Given the description of an element on the screen output the (x, y) to click on. 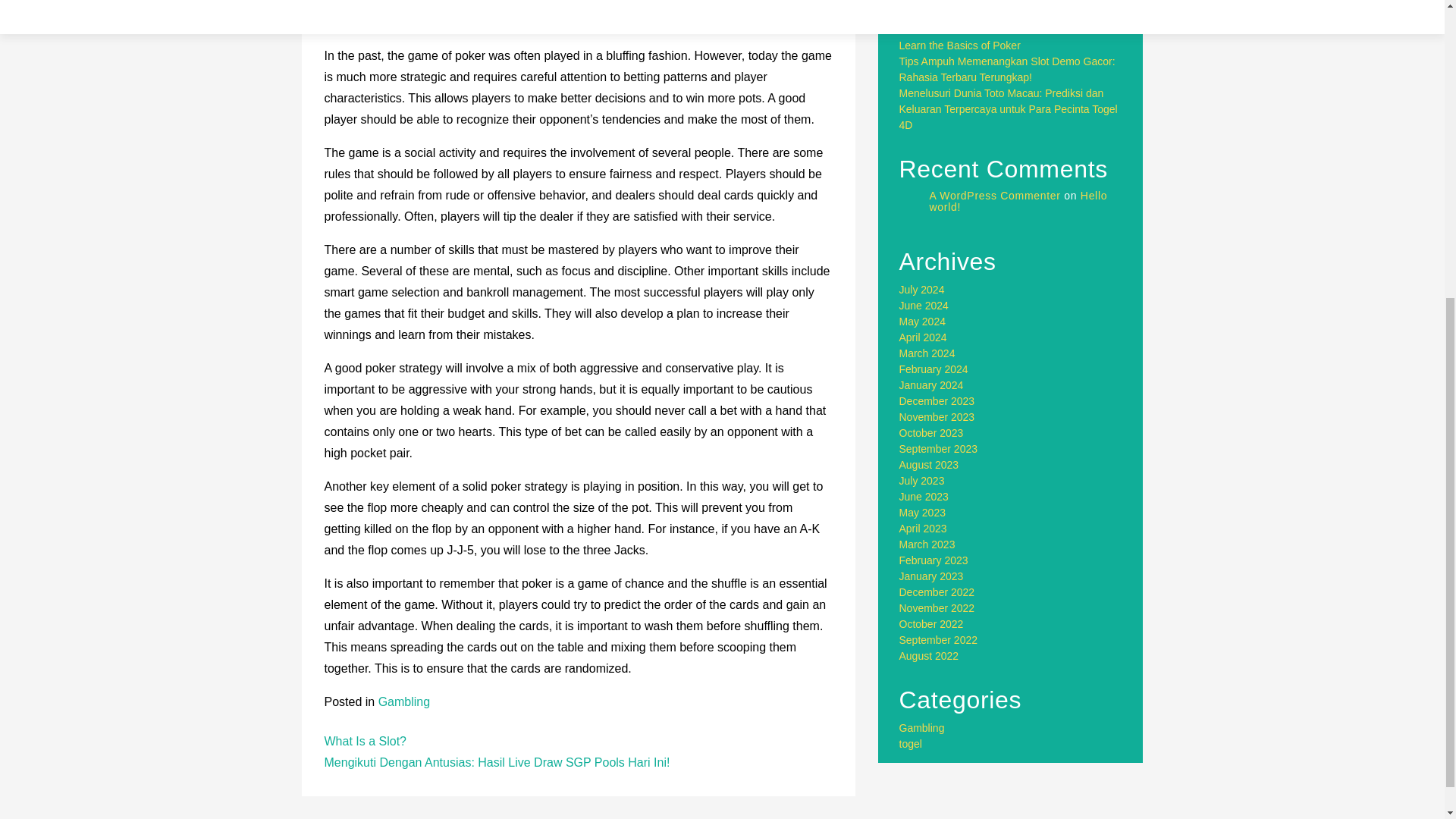
What Is a Slot? (365, 740)
Learn the Basics of Poker (959, 45)
October 2023 (931, 432)
September 2022 (938, 639)
A WordPress Commenter (995, 195)
November 2023 (937, 417)
June 2023 (924, 496)
February 2023 (933, 560)
April 2023 (923, 528)
November 2022 (937, 607)
December 2022 (937, 592)
August 2022 (929, 655)
April 2024 (923, 337)
Hello world! (1019, 200)
